Given the description of an element on the screen output the (x, y) to click on. 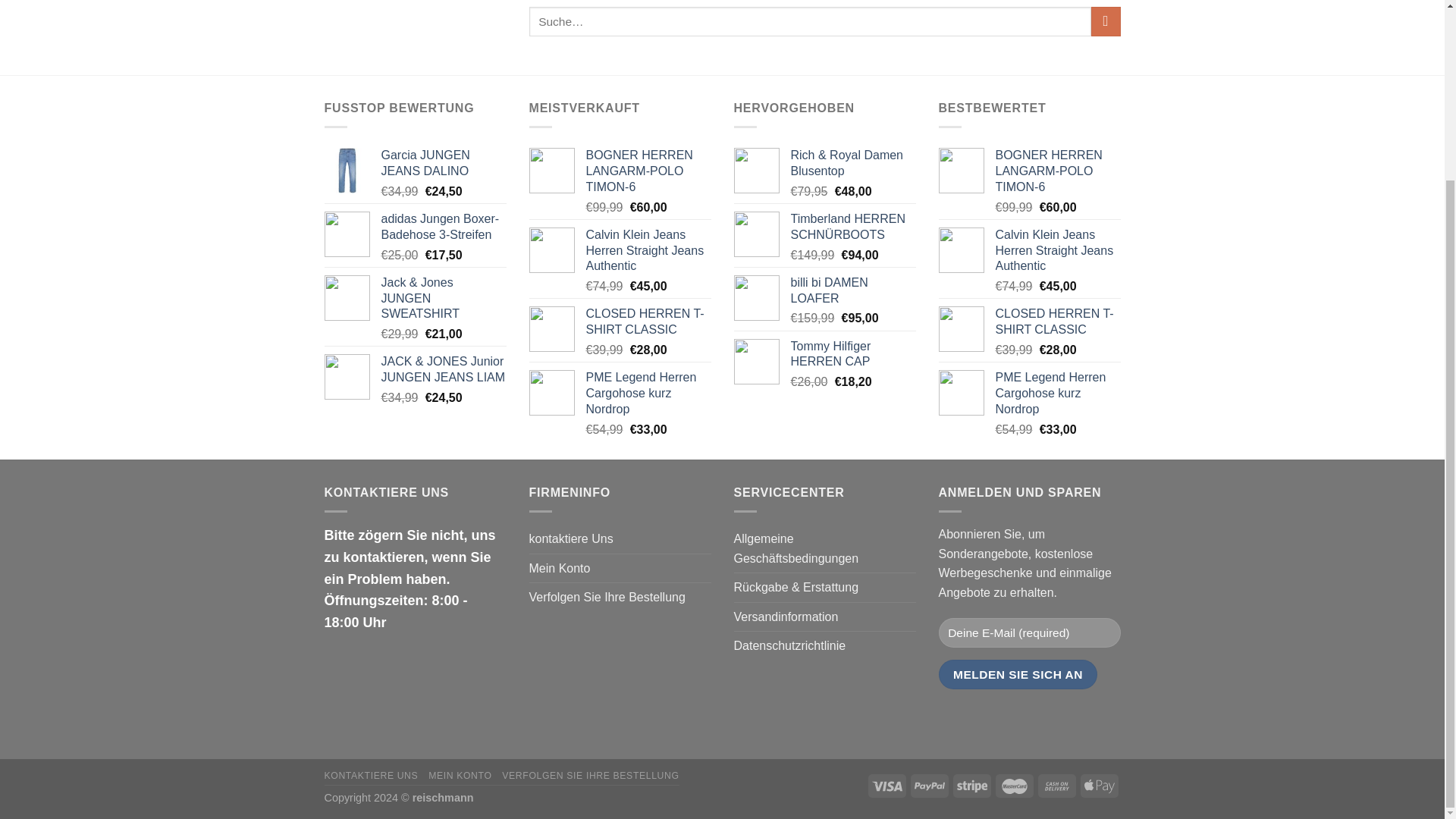
Tommy Hilfiger HERREN CAP (852, 355)
Calvin Klein Jeans Herren Straight Jeans Authentic (1056, 250)
Mein Konto (560, 568)
CLOSED HERREN T-SHIRT CLASSIC (647, 322)
PME Legend Herren Cargohose kurz Nordrop (1056, 393)
BOGNER HERREN LANGARM-POLO TIMON-6 (647, 171)
CLOSED HERREN T-SHIRT CLASSIC (1056, 322)
Verfolgen Sie Ihre Bestellung (607, 597)
PME Legend Herren Cargohose kurz Nordrop (647, 393)
BOGNER HERREN LANGARM-POLO TIMON-6 (1056, 171)
